Given the description of an element on the screen output the (x, y) to click on. 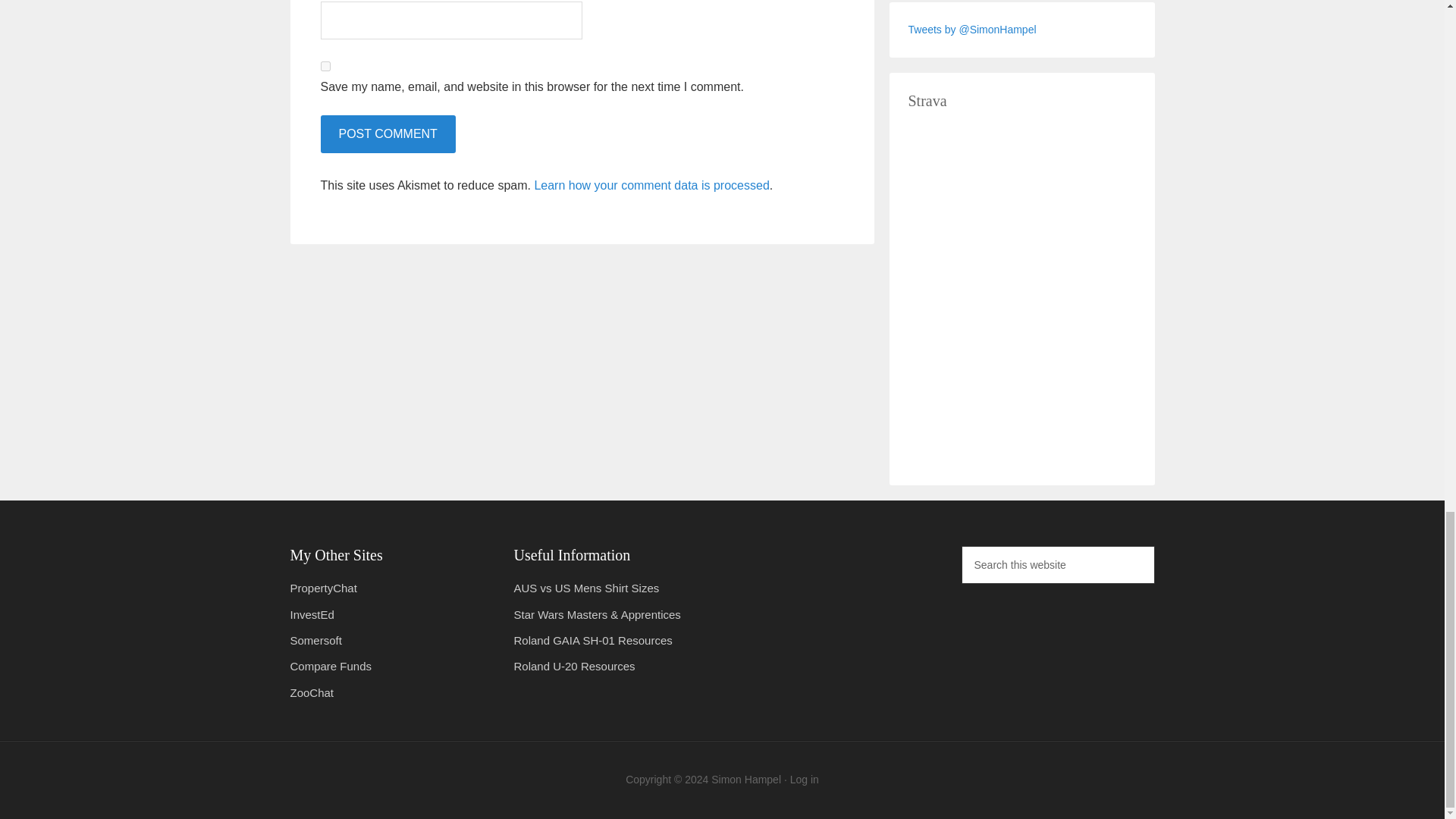
Analysis of Tweets by Australian MPs (322, 587)
Post Comment (387, 134)
yes (325, 66)
Investor Education (311, 614)
Compare Managed Funds and ETFs (330, 666)
Post Comment (387, 134)
Learn how your comment data is processed (651, 185)
